Given the description of an element on the screen output the (x, y) to click on. 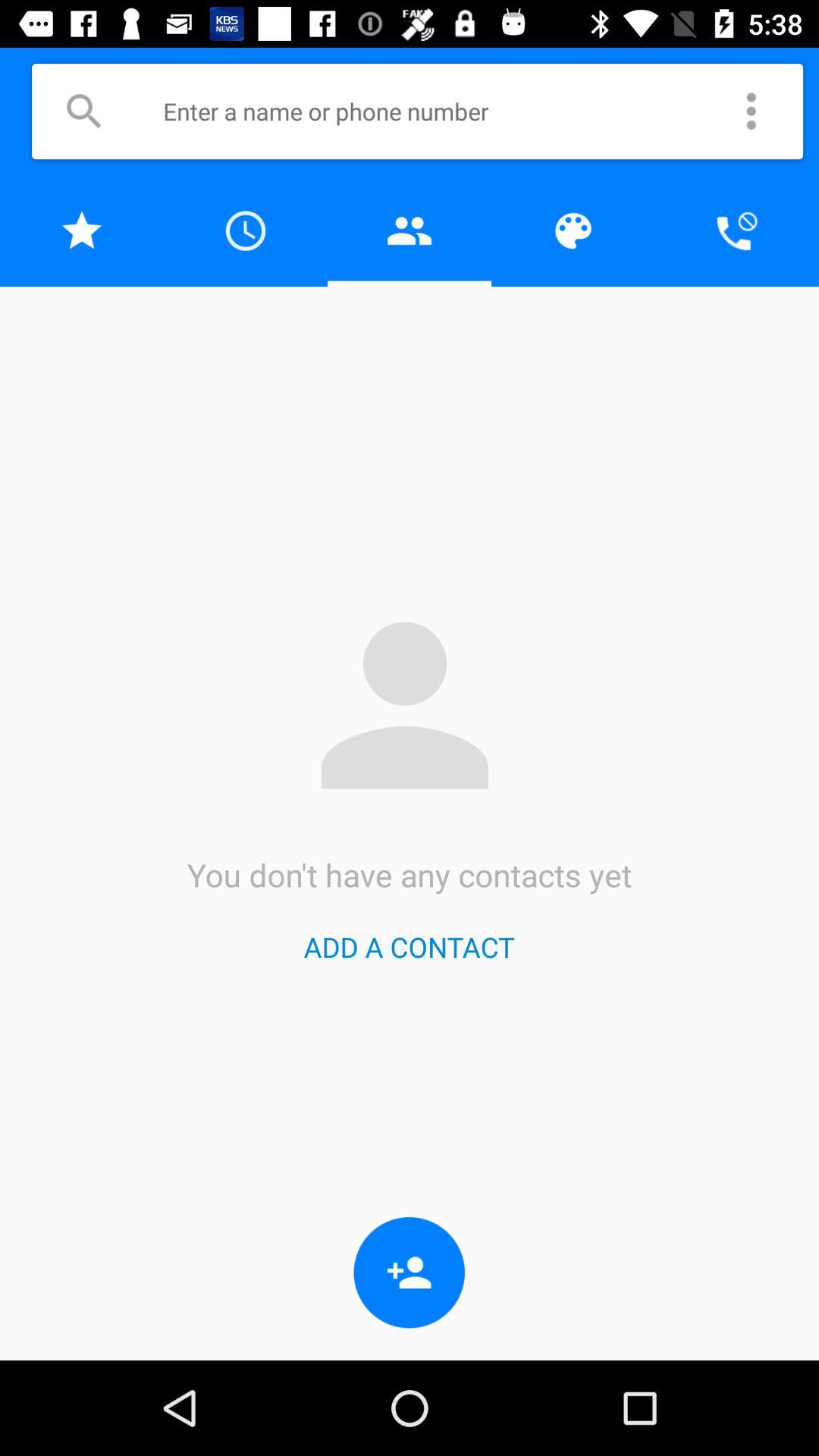
choose the item below the you don t icon (408, 946)
